Given the description of an element on the screen output the (x, y) to click on. 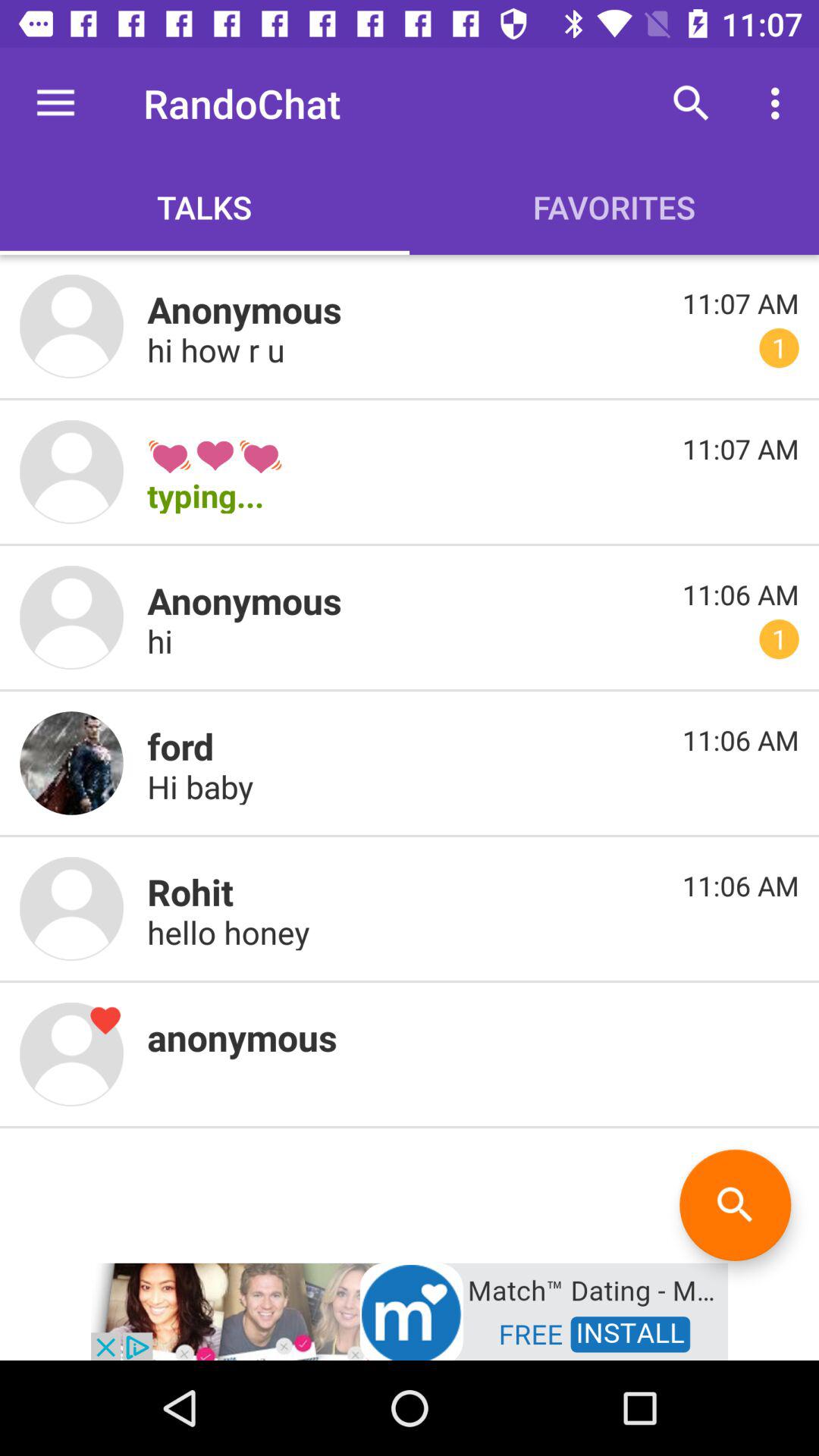
search button (735, 1204)
